Given the description of an element on the screen output the (x, y) to click on. 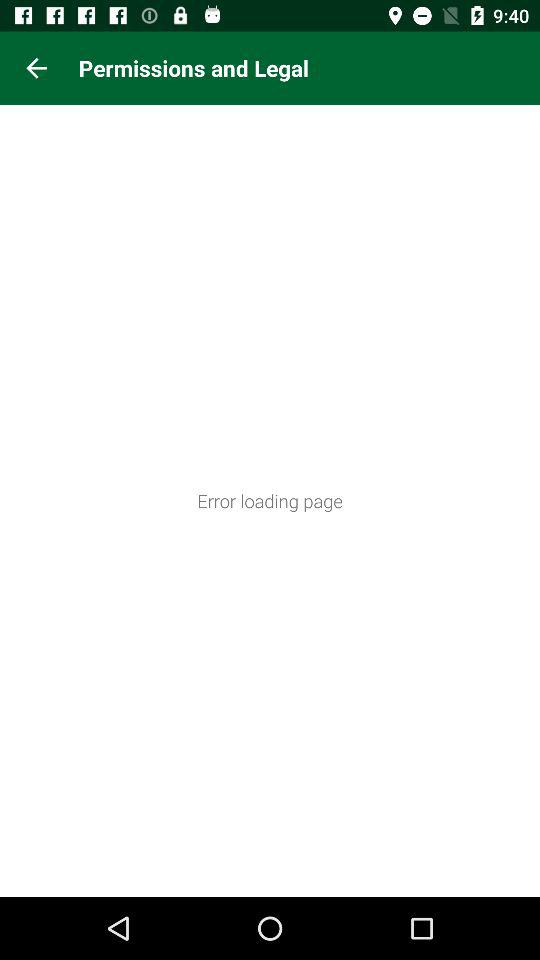
tap icon at the top left corner (36, 68)
